Given the description of an element on the screen output the (x, y) to click on. 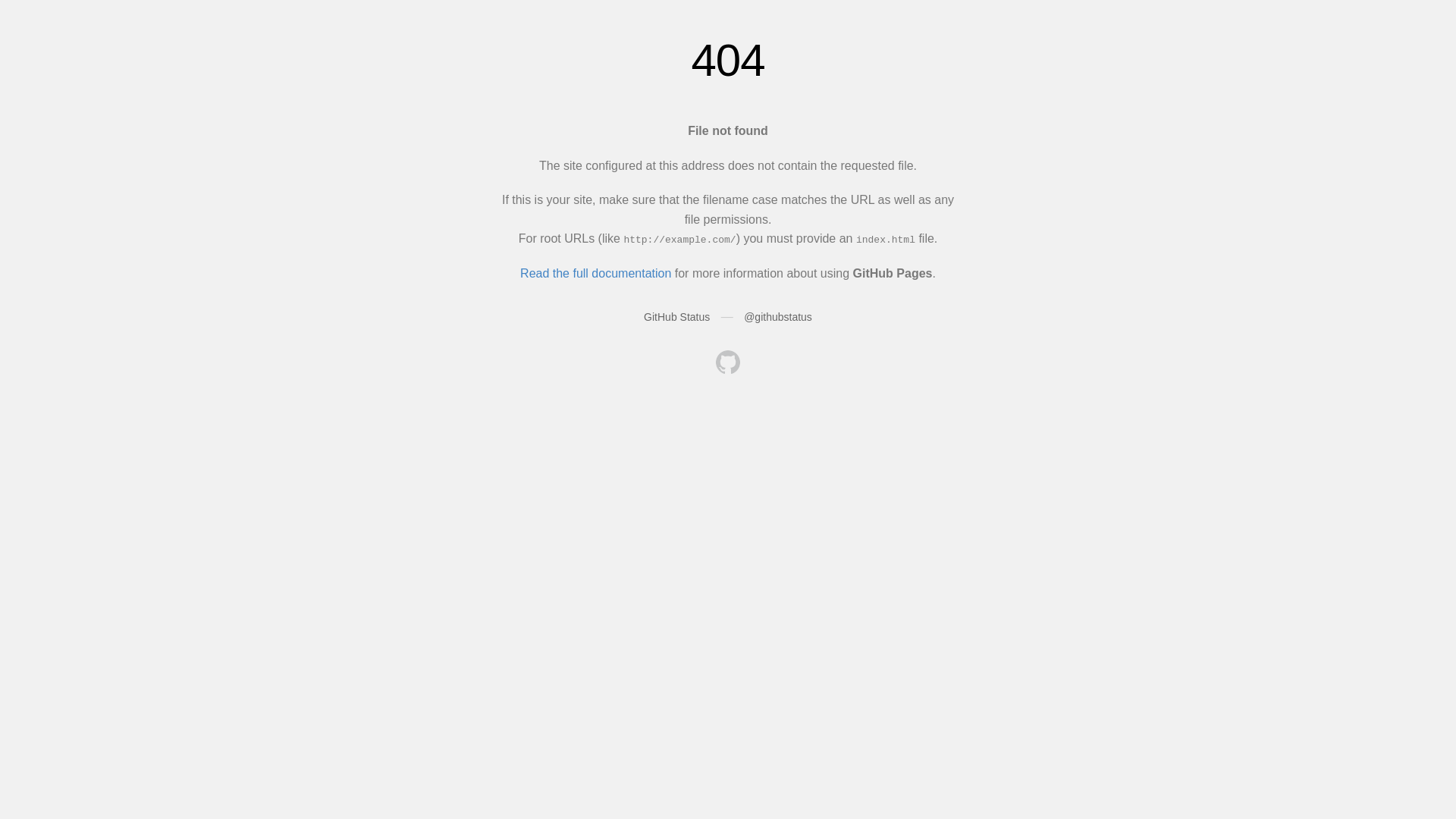
Read the full documentation Element type: text (595, 272)
GitHub Status Element type: text (676, 316)
@githubstatus Element type: text (777, 316)
